Given the description of an element on the screen output the (x, y) to click on. 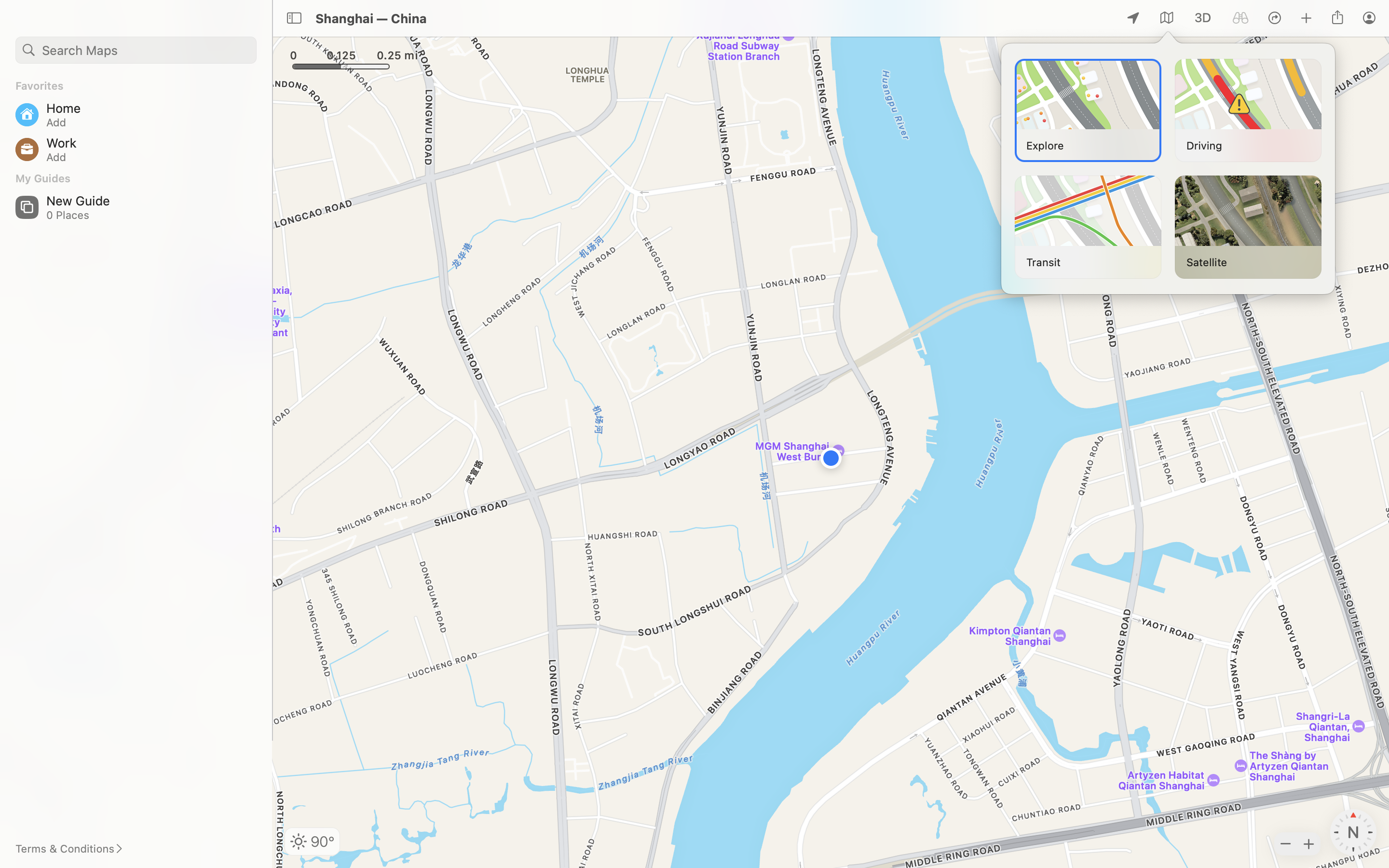
Heading: 0 degrees North Element type: AXButton (1353, 832)
0 Element type: AXCheckBox (1202, 18)
